Given the description of an element on the screen output the (x, y) to click on. 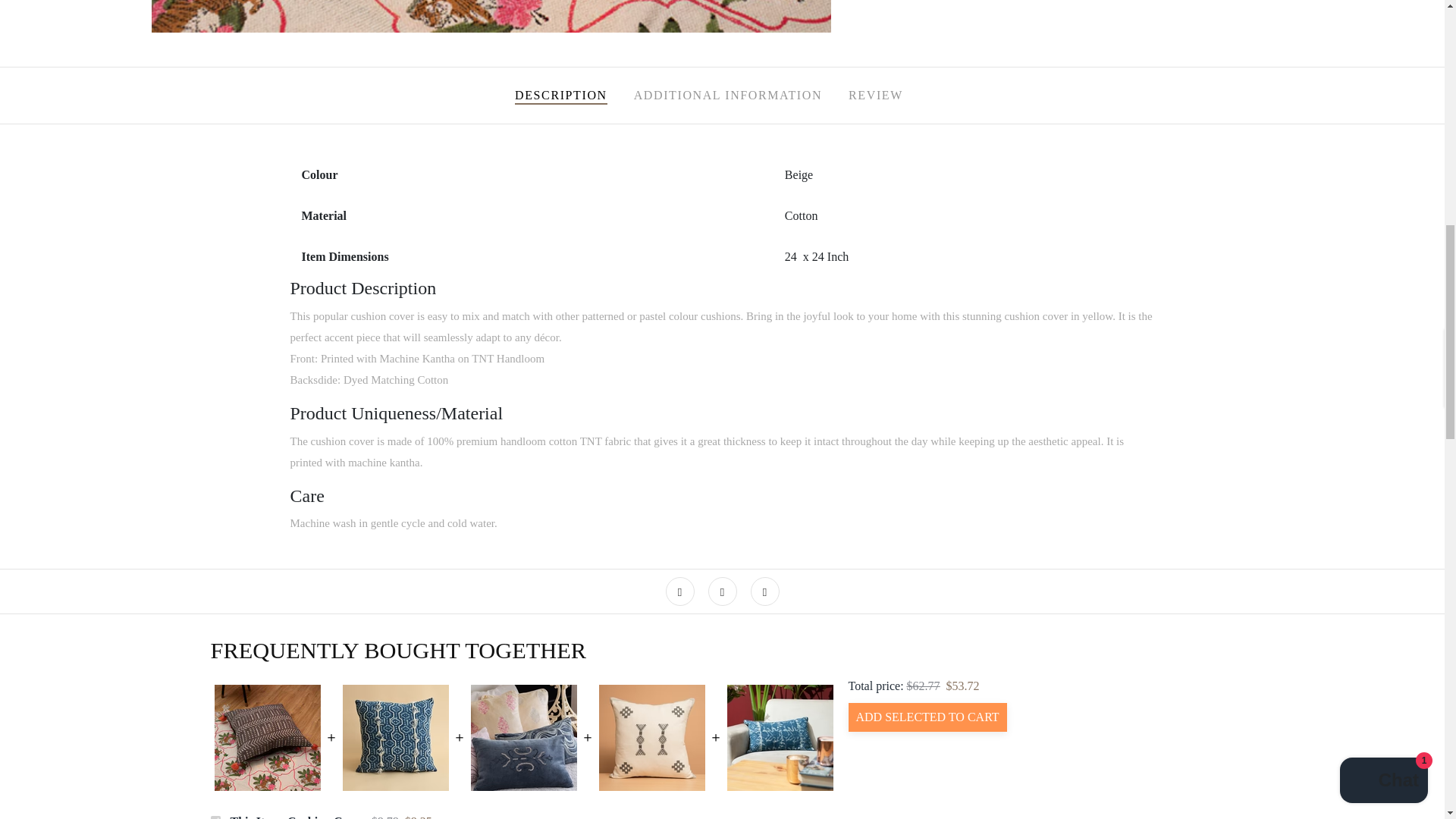
on (216, 817)
